Given the description of an element on the screen output the (x, y) to click on. 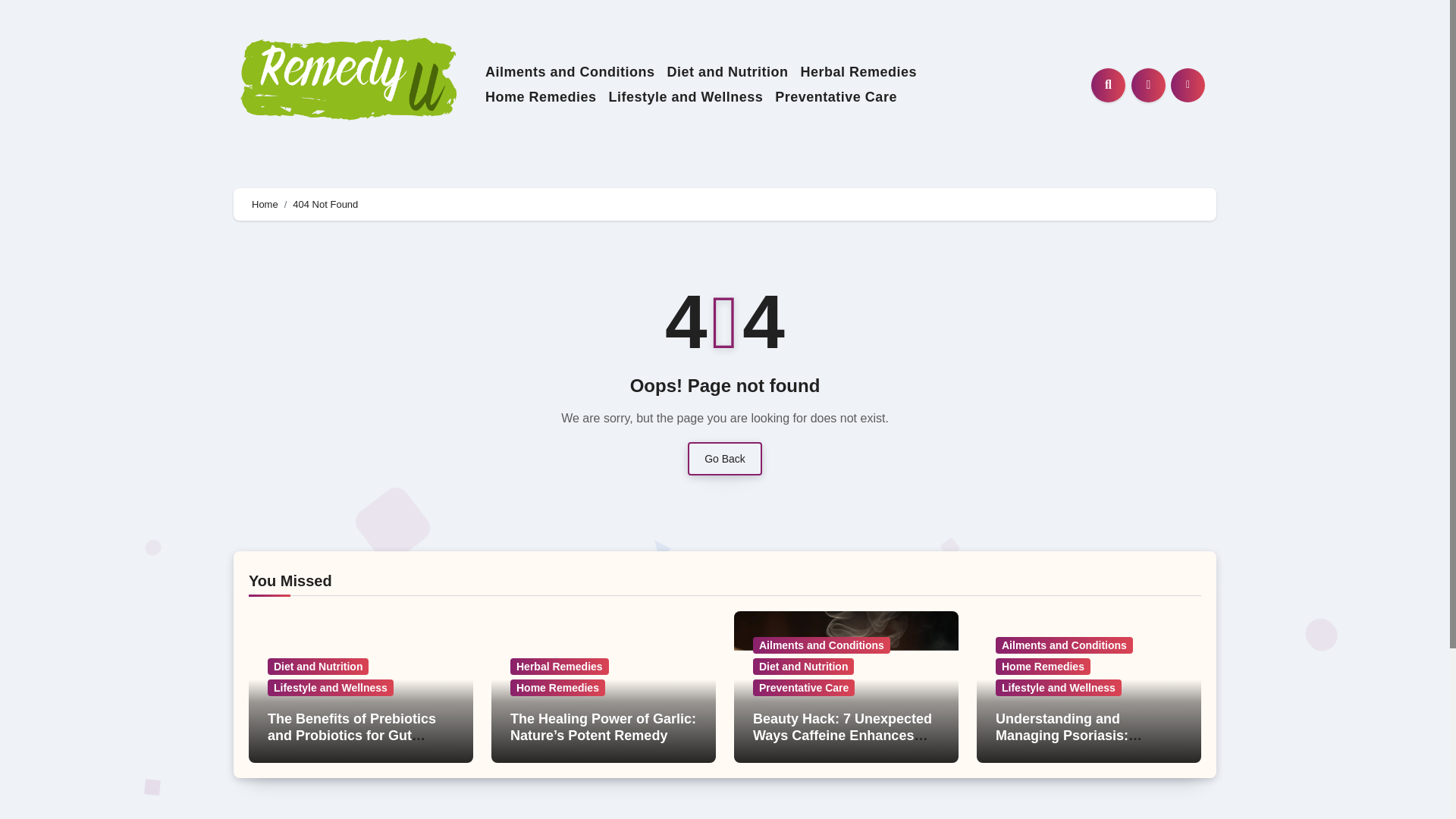
Herbal Remedies (858, 72)
Ailments and Conditions (1063, 645)
Home Remedies (540, 97)
Home Remedies (540, 97)
Ailments and Conditions (570, 72)
Preventative Care (803, 687)
The Benefits of Prebiotics and Probiotics for Gut Health (351, 735)
Herbal Remedies (559, 666)
